Given the description of an element on the screen output the (x, y) to click on. 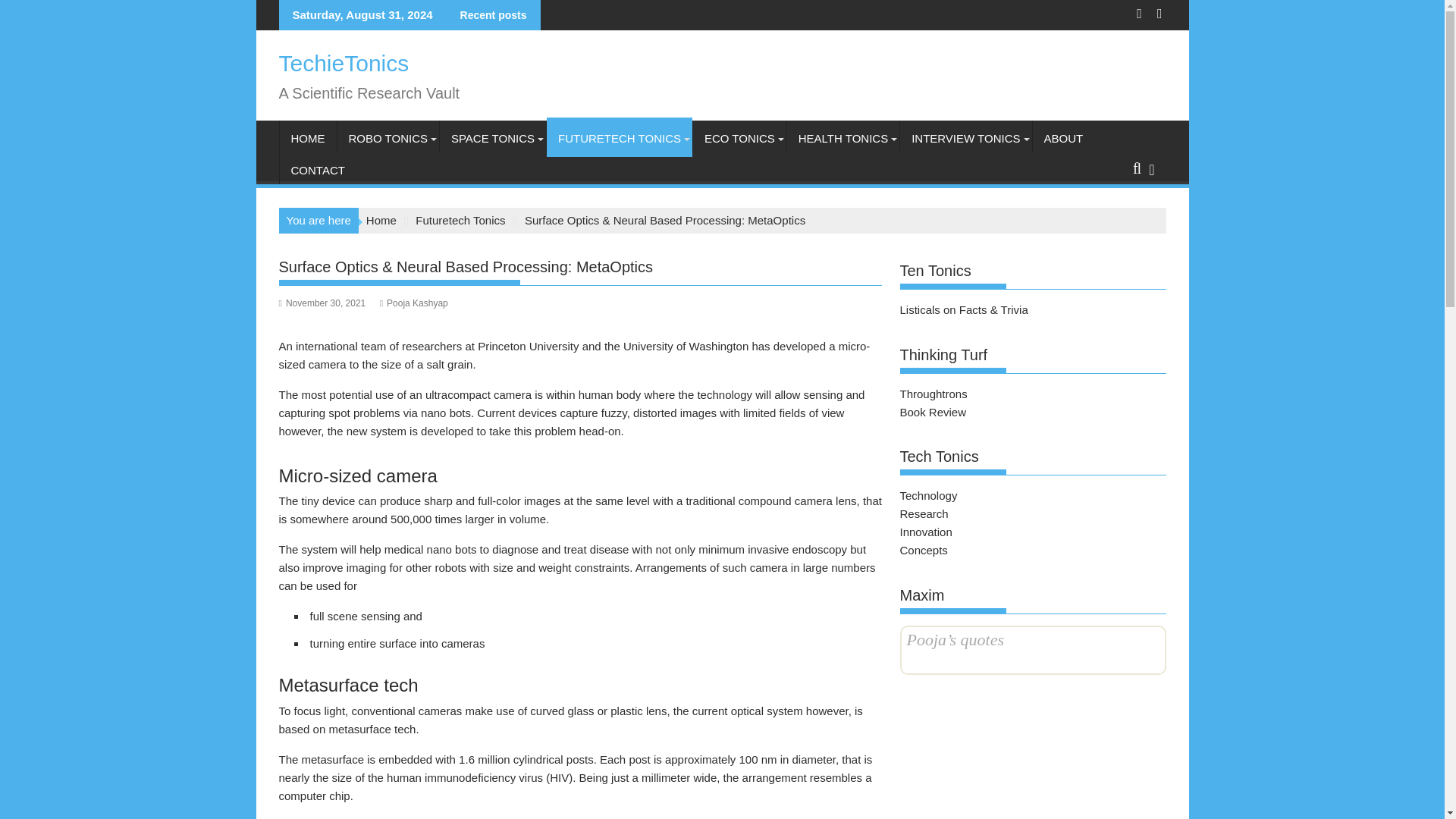
TechieTonics (344, 63)
SPACE TONICS (492, 138)
ABOUT (1063, 138)
HOME (307, 138)
CONTACT (317, 170)
INTERVIEW TONICS (964, 138)
ROBO TONICS (387, 138)
HEALTH TONICS (843, 138)
FUTURETECH TONICS (620, 138)
ECO TONICS (739, 138)
